Given the description of an element on the screen output the (x, y) to click on. 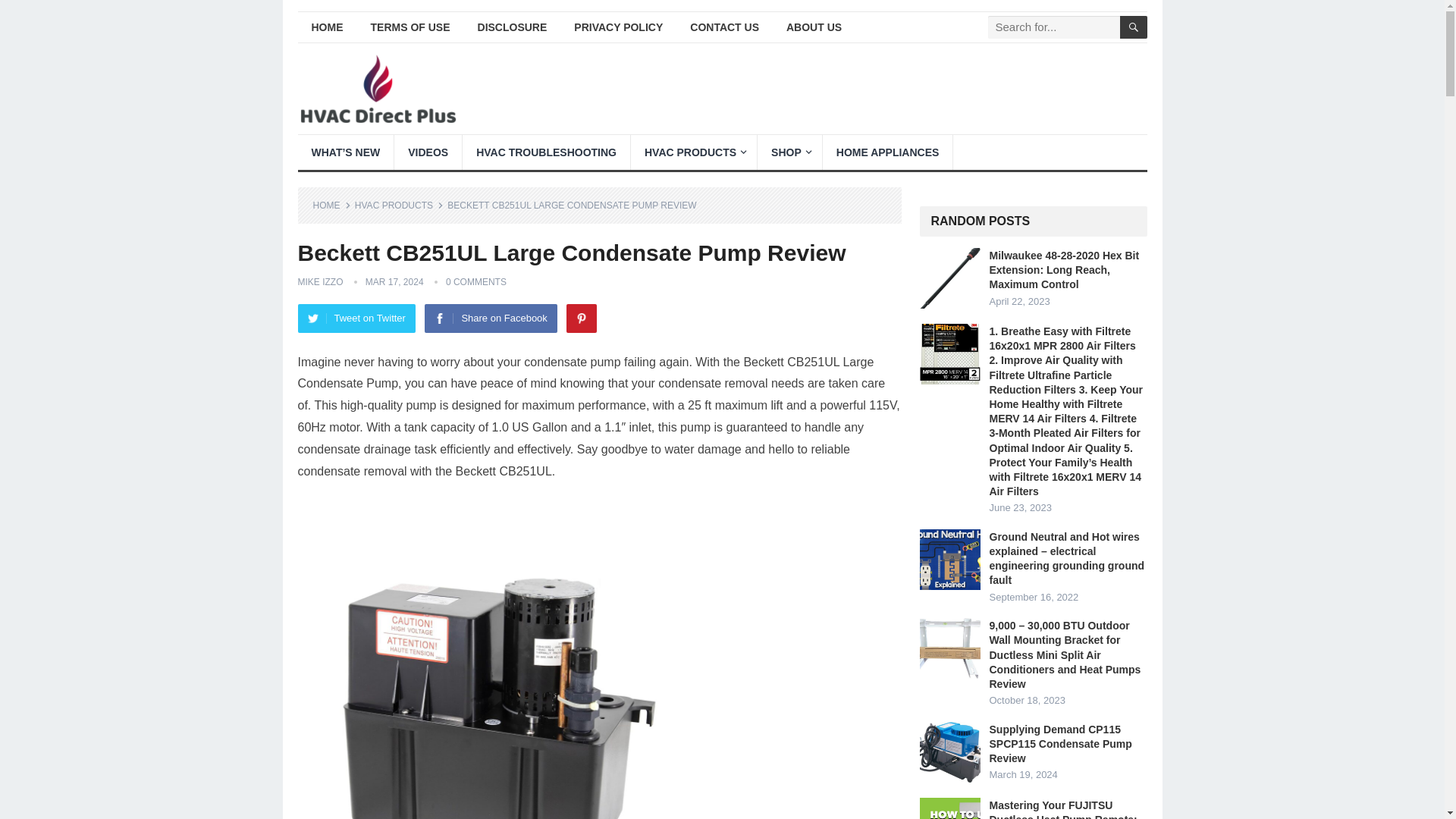
Tweet on Twitter (355, 317)
0 COMMENTS (475, 281)
DISCLOSURE (512, 27)
CONTACT US (725, 27)
Share on Facebook (490, 317)
HOME (331, 204)
PRIVACY POLICY (618, 27)
Pinterest (581, 317)
MIKE IZZO (319, 281)
HVAC TROUBLESHOOTING (546, 152)
